Given the description of an element on the screen output the (x, y) to click on. 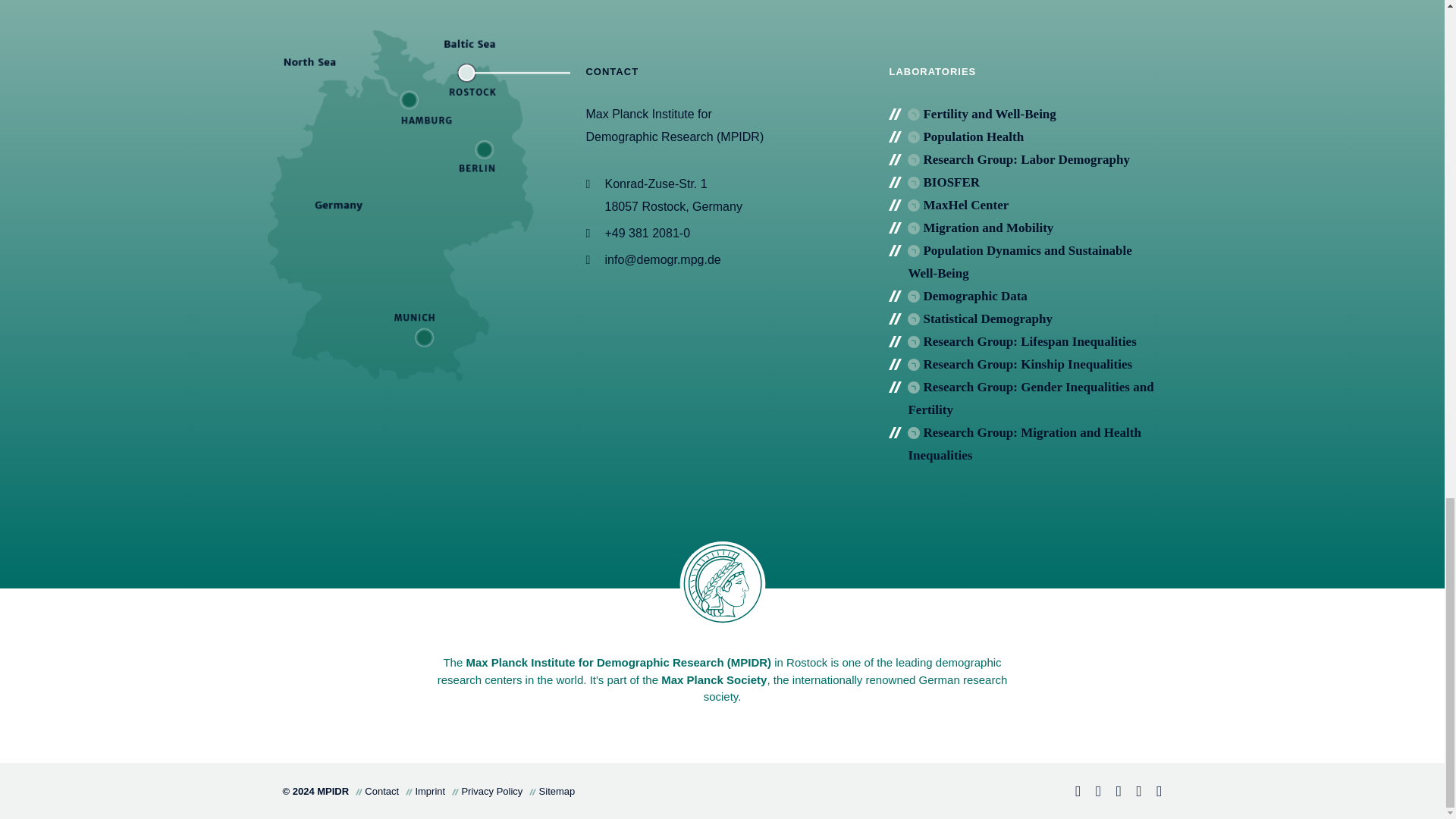
LinkedIn (1091, 792)
Facebook (1071, 792)
RSS Feed (1152, 792)
Contact (1132, 792)
Twitter (1112, 792)
